Given the description of an element on the screen output the (x, y) to click on. 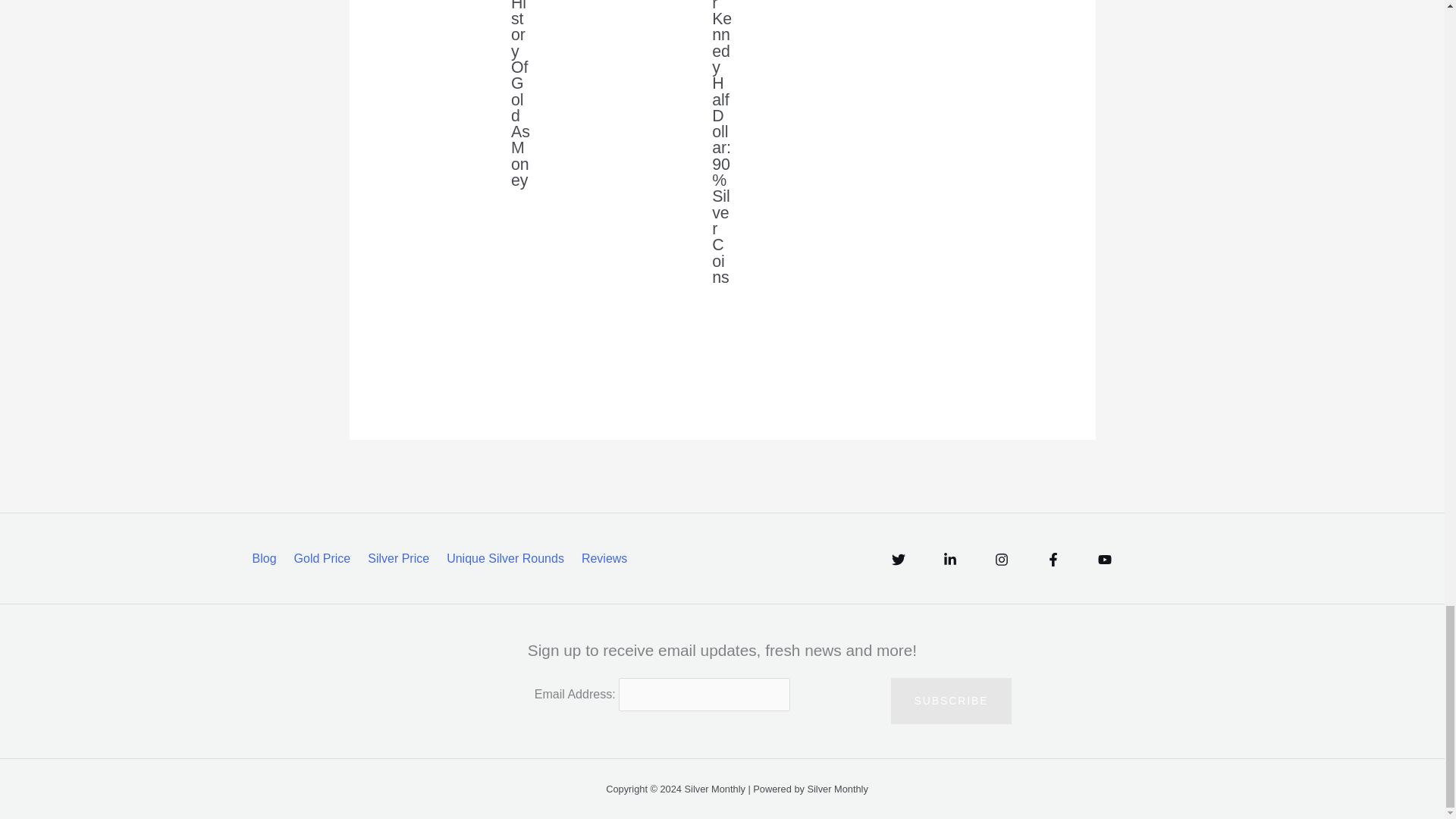
Blog (268, 558)
Subscribe (950, 700)
Gold Price (325, 558)
